Given the description of an element on the screen output the (x, y) to click on. 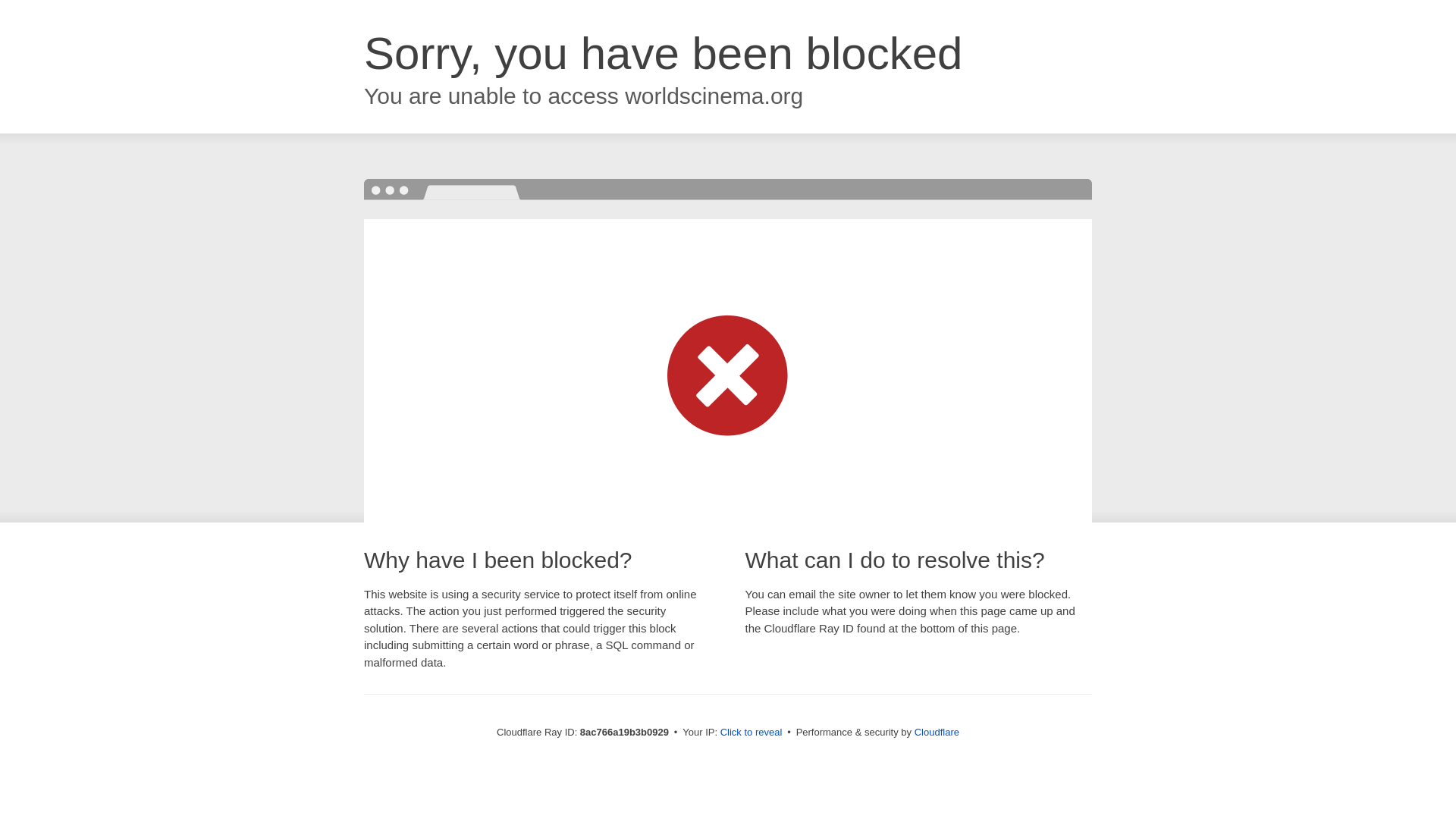
Click to reveal (751, 732)
Cloudflare (936, 731)
